Given the description of an element on the screen output the (x, y) to click on. 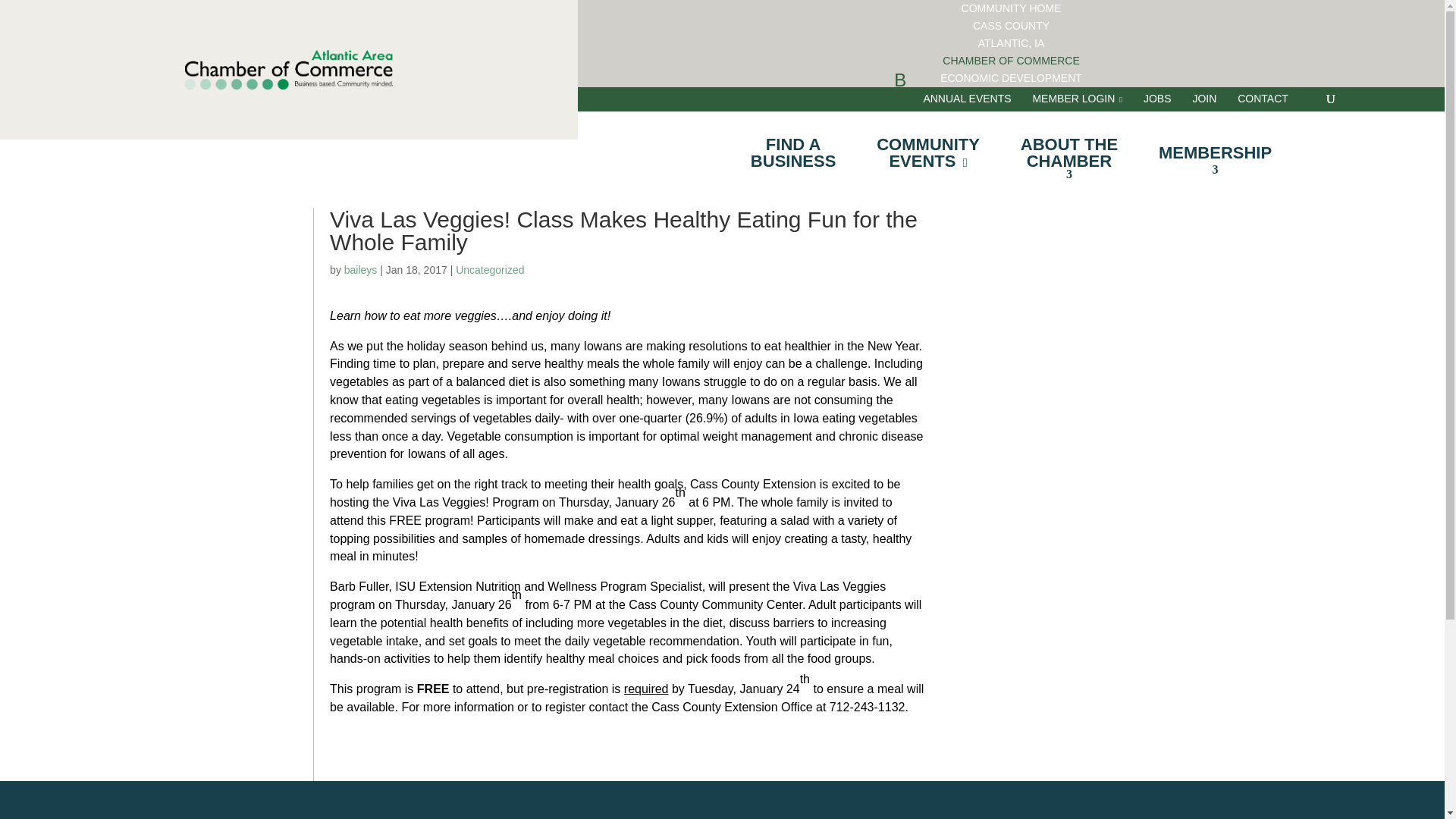
JOIN (793, 152)
ECONOMIC DEVELOPMENT (1203, 98)
Posts by baileys (1010, 78)
ATLANTIC, IA (360, 269)
JOBS (1069, 152)
MEMBERSHIP (1011, 42)
COMMUNITY HOME (1157, 98)
MEMBER LOGIN (1215, 152)
CHAMBER OF COMMERCE (1010, 8)
CONTACT (1077, 99)
CASS COUNTY (1010, 60)
ANNUAL EVENTS (1262, 98)
